Given the description of an element on the screen output the (x, y) to click on. 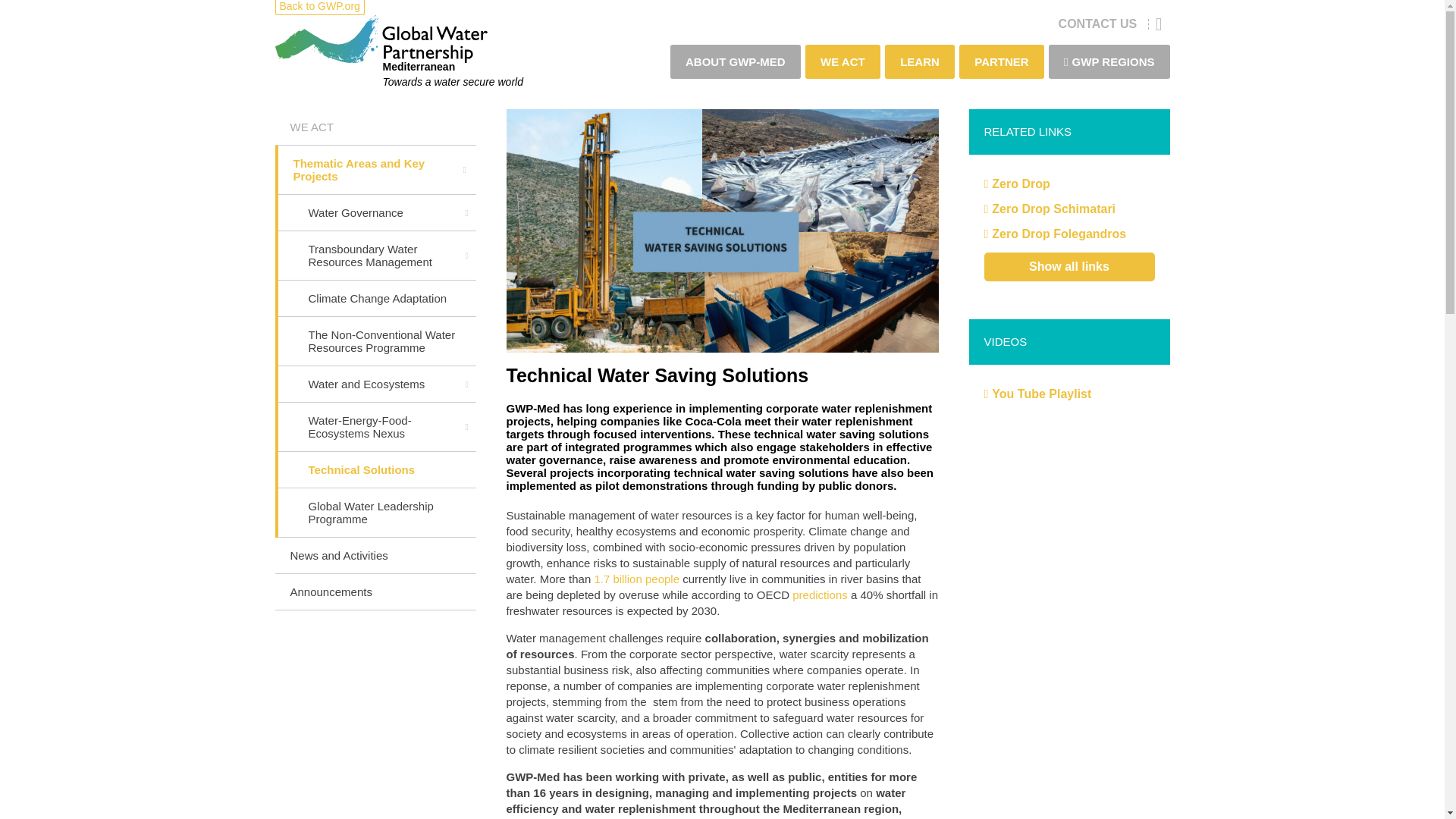
Turning the Tide (821, 594)
Back to GWP.org (319, 6)
ABOUT GWP-MED (734, 61)
LEARN (920, 61)
WE ACT (842, 61)
UN Sustainable Development Goals (638, 578)
CONTACT US (1097, 23)
